Given the description of an element on the screen output the (x, y) to click on. 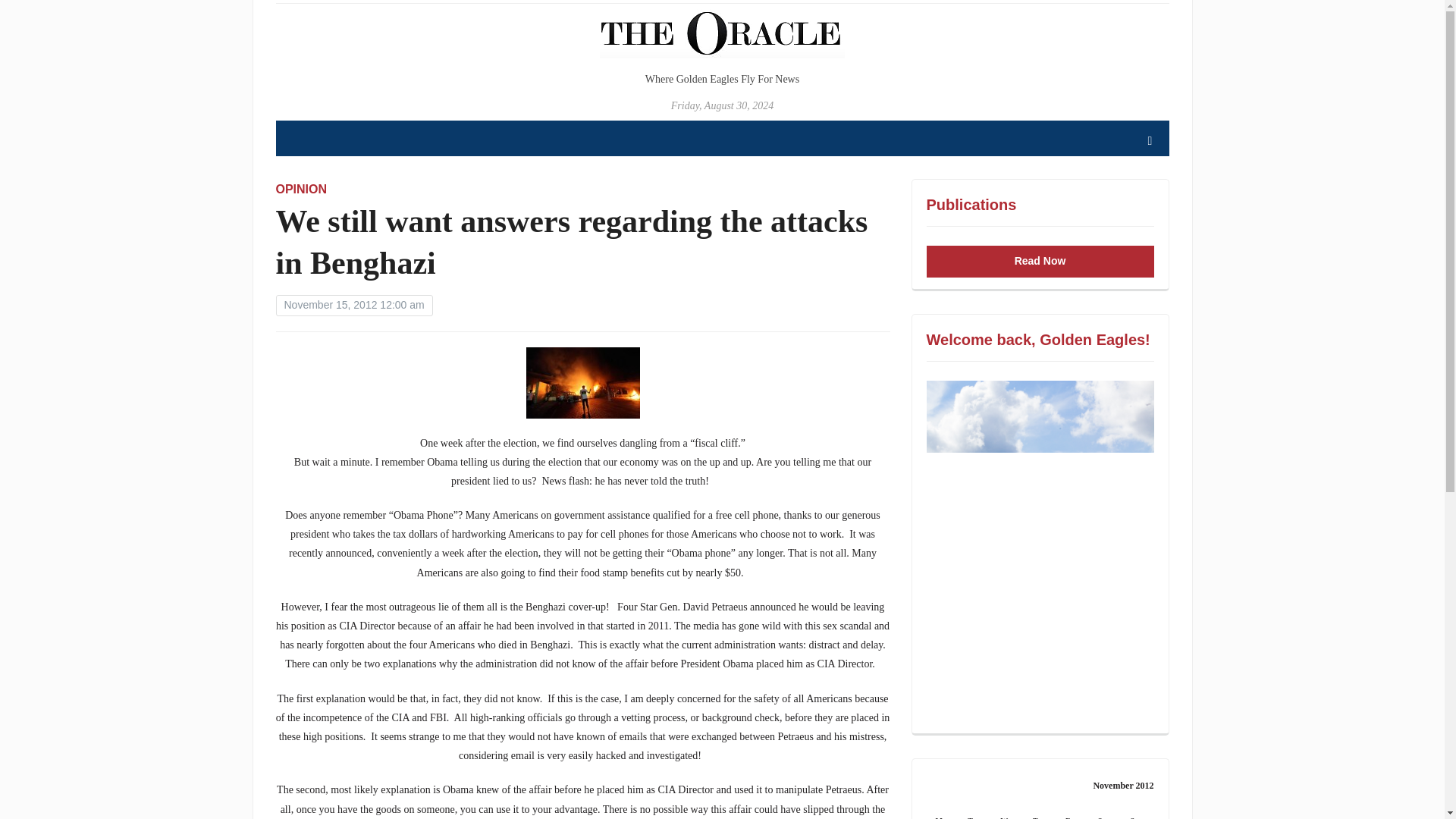
Read Now (1040, 260)
Wednesday (1007, 812)
Sunday (1137, 812)
OPINION (301, 188)
Thursday (1040, 812)
Search (1149, 141)
Monday (942, 812)
Friday (1073, 812)
Saturday (1105, 812)
Tuesday (974, 812)
